Given the description of an element on the screen output the (x, y) to click on. 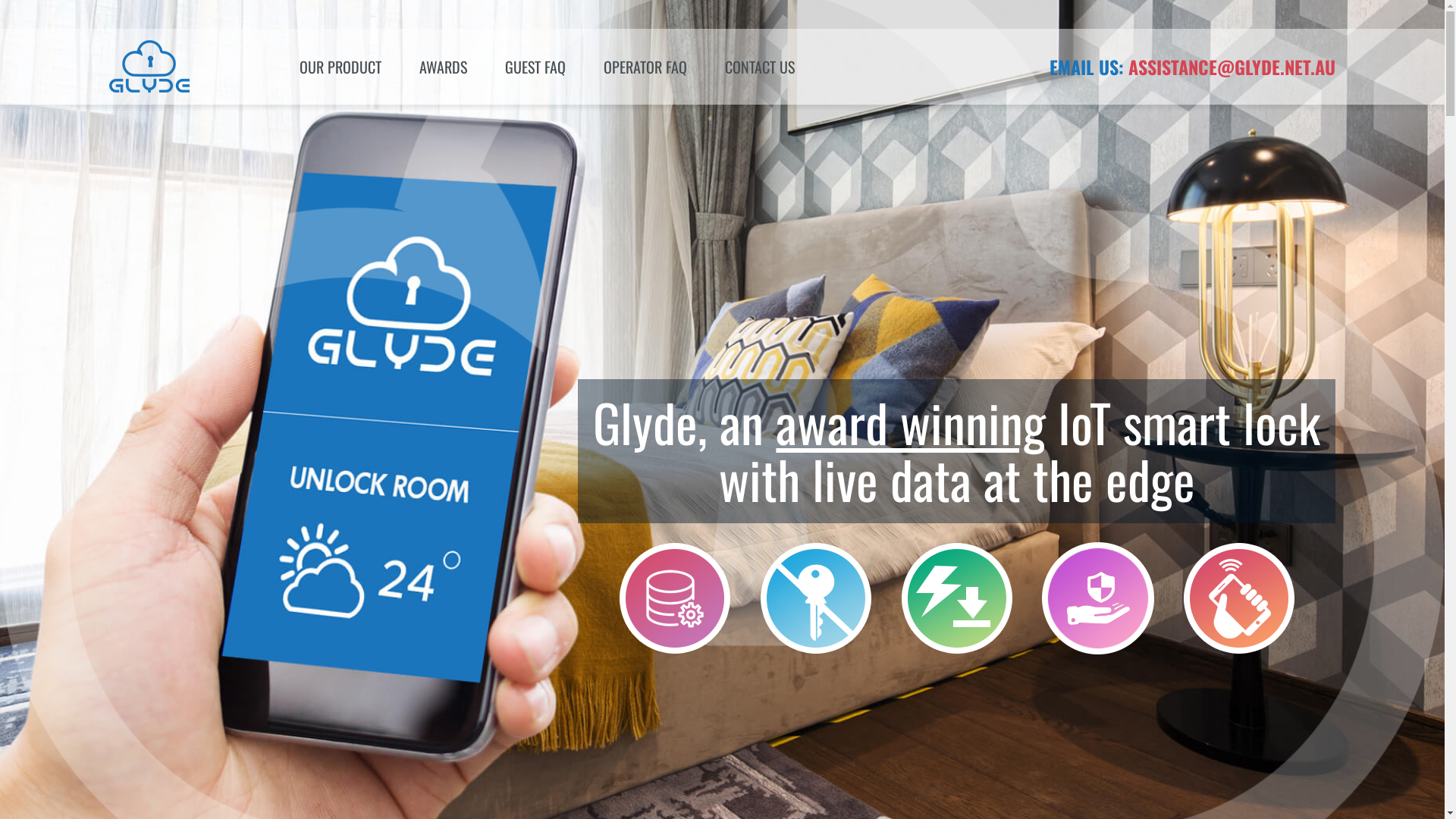
award winning Element type: text (910, 421)
CONTACT US Element type: text (759, 66)
AWARDS Element type: text (443, 66)
GUEST FAQ Element type: text (535, 66)
OPERATOR FAQ Element type: text (645, 66)
ASSISTANCE@GLYDE.NET.AU Element type: text (1231, 66)
OUR PRODUCT Element type: text (340, 66)
